Given the description of an element on the screen output the (x, y) to click on. 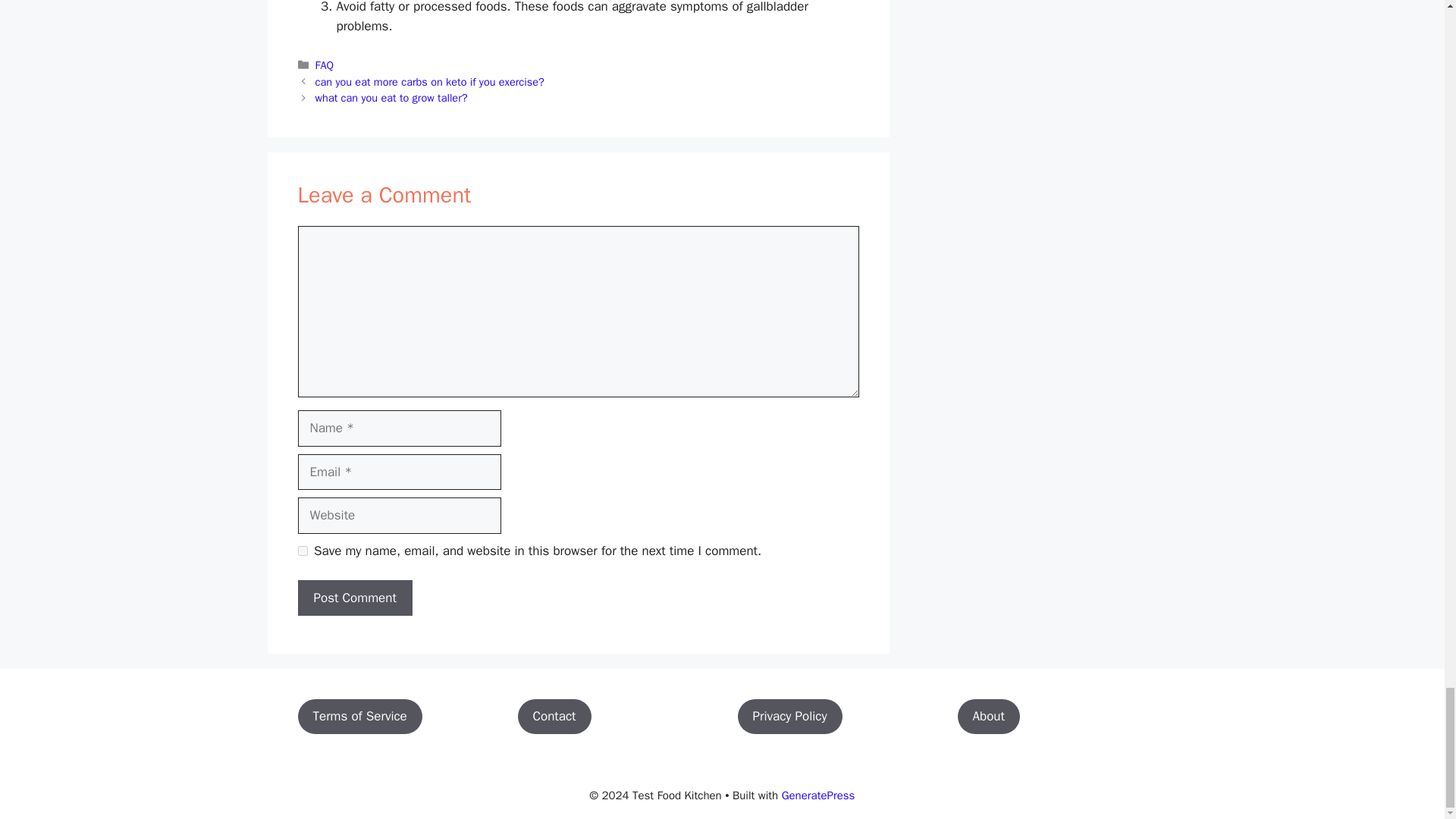
Privacy Policy (788, 716)
FAQ (324, 65)
can you eat more carbs on keto if you exercise? (429, 81)
yes (302, 551)
About (987, 716)
Post Comment (354, 597)
Terms of Service (359, 716)
GeneratePress (818, 795)
Post Comment (354, 597)
what can you eat to grow taller? (391, 97)
